Given the description of an element on the screen output the (x, y) to click on. 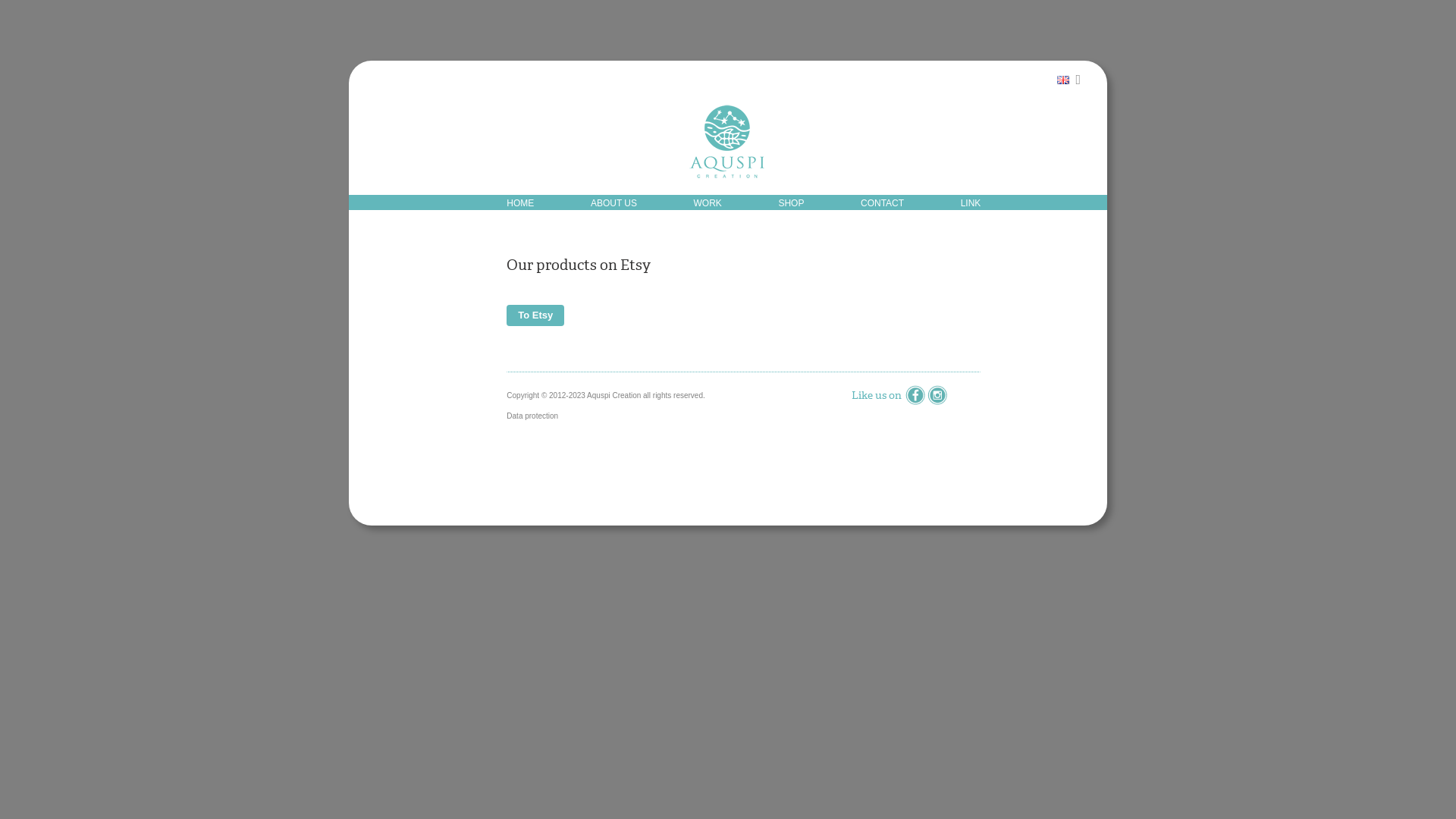
WORK Element type: text (707, 202)
ABOUT US Element type: text (613, 202)
SHOP Element type: text (790, 202)
To Etsy Element type: text (535, 315)
HOME Element type: text (519, 202)
Data protection Element type: text (532, 415)
LINK Element type: text (970, 202)
CONTACT Element type: text (881, 202)
